Given the description of an element on the screen output the (x, y) to click on. 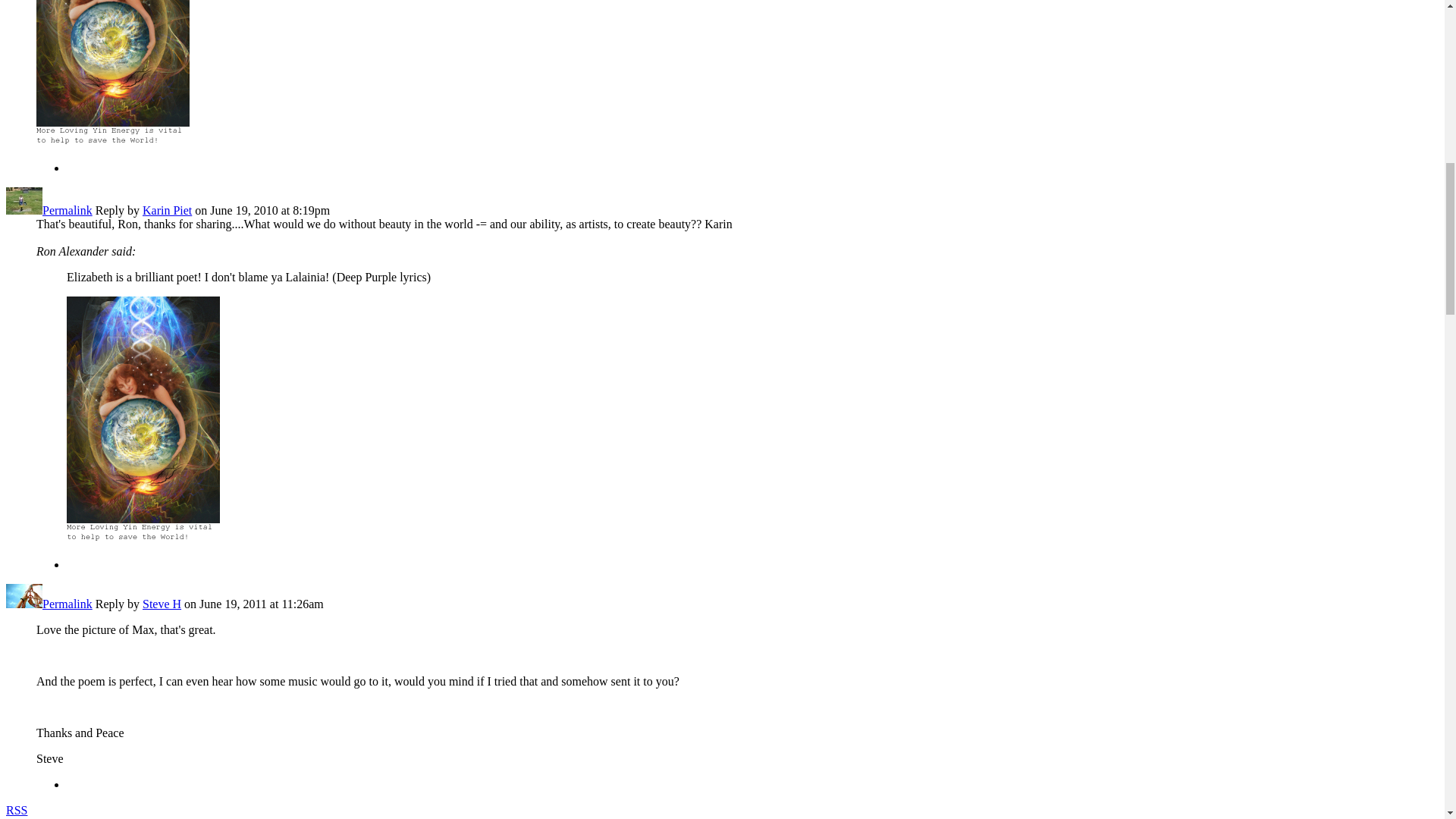
Karin Piet (23, 210)
Permalink to this Reply (67, 603)
Steve H (23, 603)
Permalink to this Reply (67, 210)
